Given the description of an element on the screen output the (x, y) to click on. 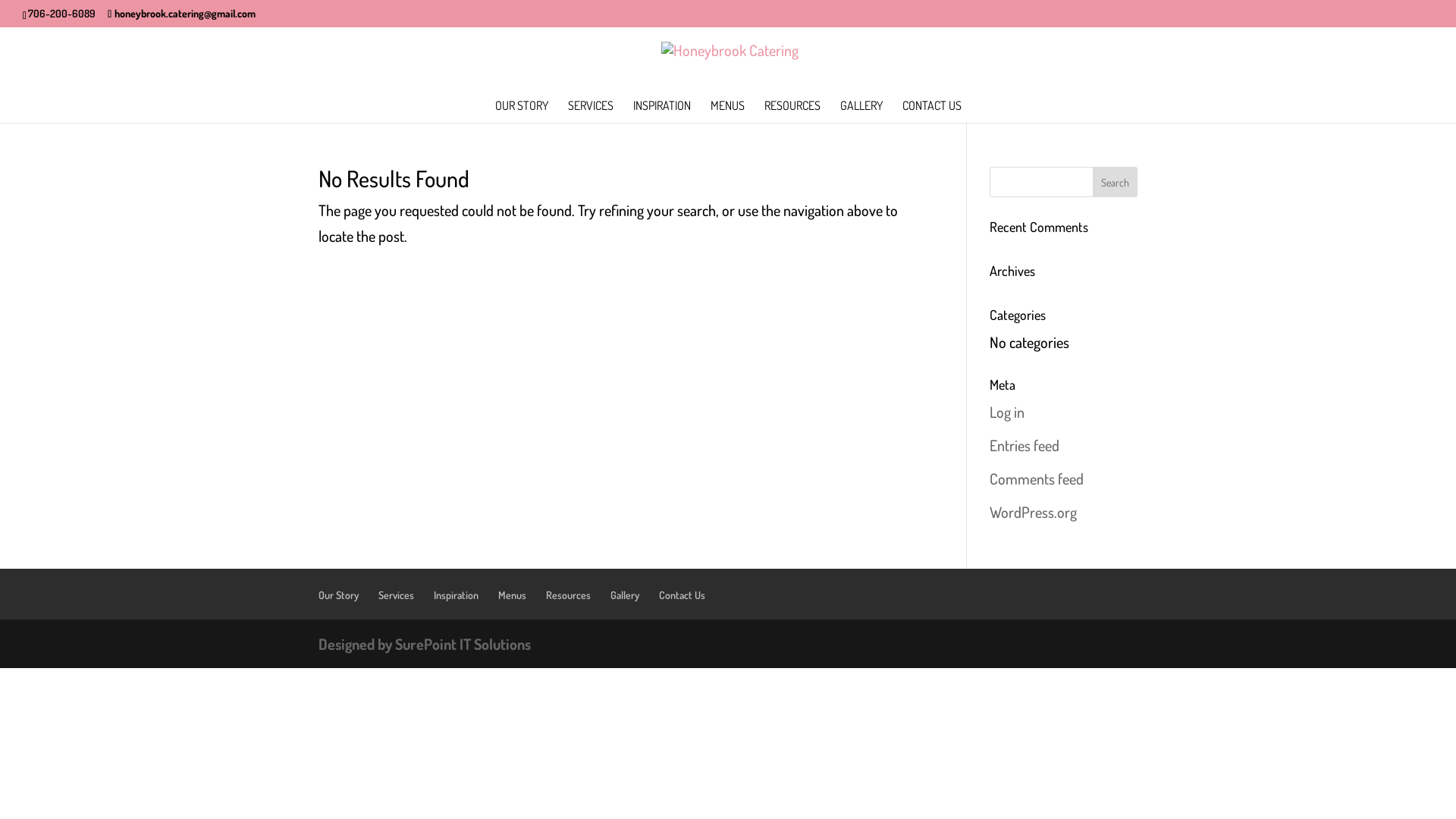
Search Element type: text (1114, 181)
Our Story Element type: text (338, 594)
RESOURCES Element type: text (792, 111)
Comments feed Element type: text (1036, 478)
Contact Us Element type: text (681, 594)
MENUS Element type: text (726, 111)
Resources Element type: text (568, 594)
Menus Element type: text (512, 594)
GALLERY Element type: text (861, 111)
Log in Element type: text (1006, 411)
honeybrook.catering@gmail.com Element type: text (181, 12)
Gallery Element type: text (624, 594)
OUR STORY Element type: text (520, 111)
Entries feed Element type: text (1024, 445)
Services Element type: text (396, 594)
SurePoint IT Solutions Element type: text (462, 643)
WordPress.org Element type: text (1032, 511)
CONTACT US Element type: text (931, 111)
SERVICES Element type: text (589, 111)
INSPIRATION Element type: text (661, 111)
Inspiration Element type: text (455, 594)
